Given the description of an element on the screen output the (x, y) to click on. 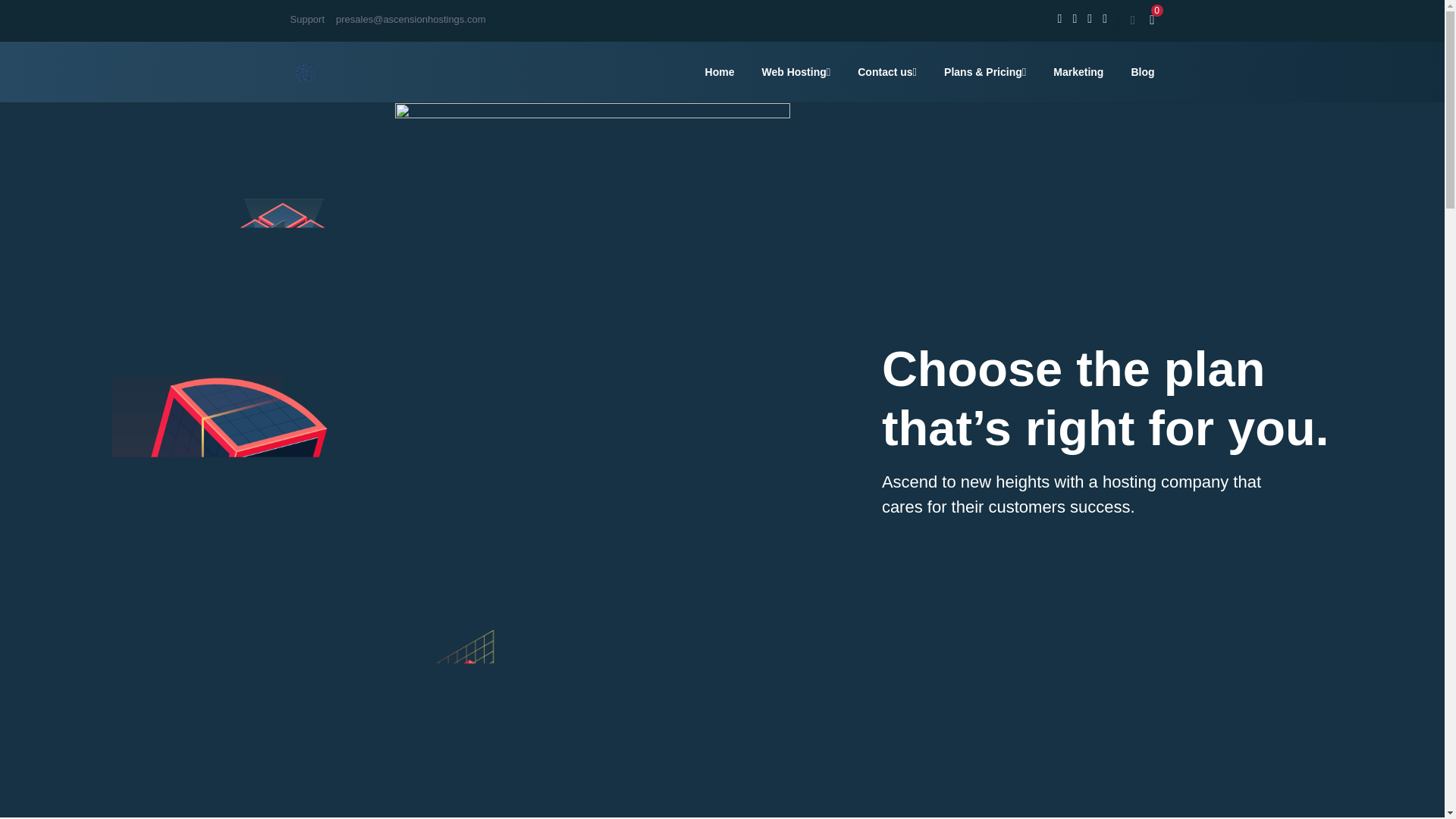
Blog (1142, 71)
Contact us (887, 71)
Support (306, 19)
Home (719, 71)
Web Hosting (795, 71)
Marketing (1077, 71)
